Given the description of an element on the screen output the (x, y) to click on. 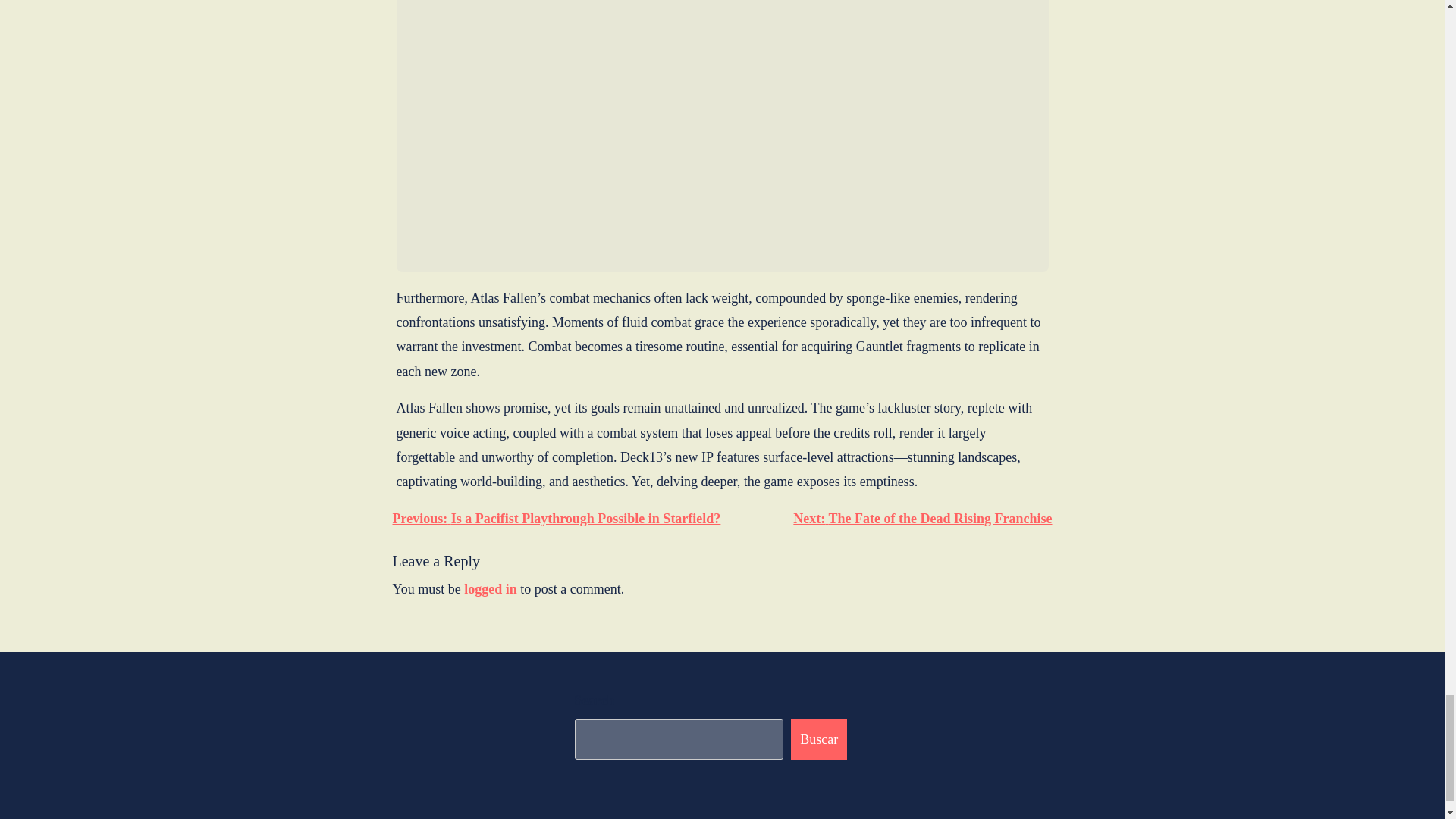
Buscar (818, 739)
Next: The Fate of the Dead Rising Franchise (922, 518)
logged in (490, 589)
Previous: Is a Pacifist Playthrough Possible in Starfield? (556, 518)
